Given the description of an element on the screen output the (x, y) to click on. 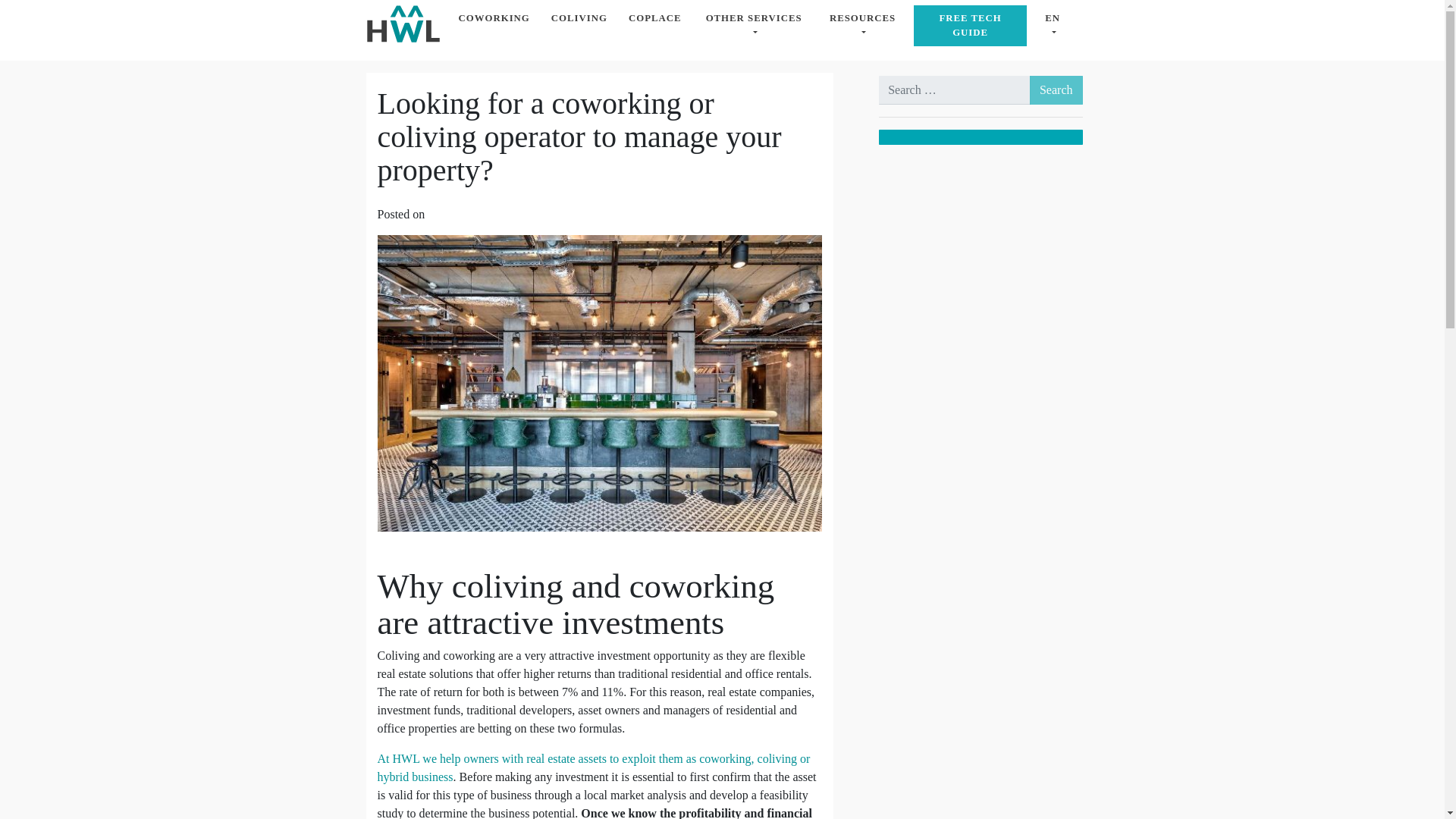
Resources (863, 24)
COPLACE (655, 17)
Coworking (493, 17)
Coplace (655, 17)
Search (1056, 90)
Search (1056, 90)
OTHER SERVICES (753, 24)
Free Tech Guide (970, 24)
RESOURCES (863, 24)
Other Services (753, 24)
